Given the description of an element on the screen output the (x, y) to click on. 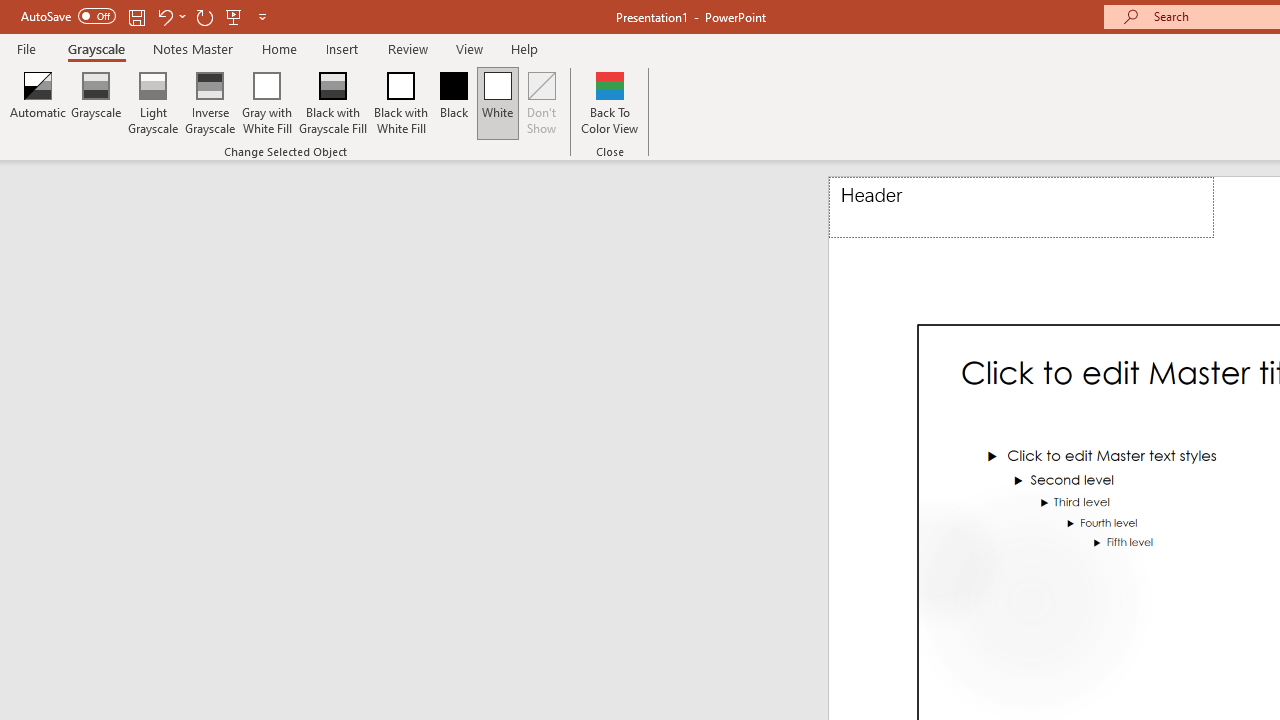
Header (1021, 207)
